Given the description of an element on the screen output the (x, y) to click on. 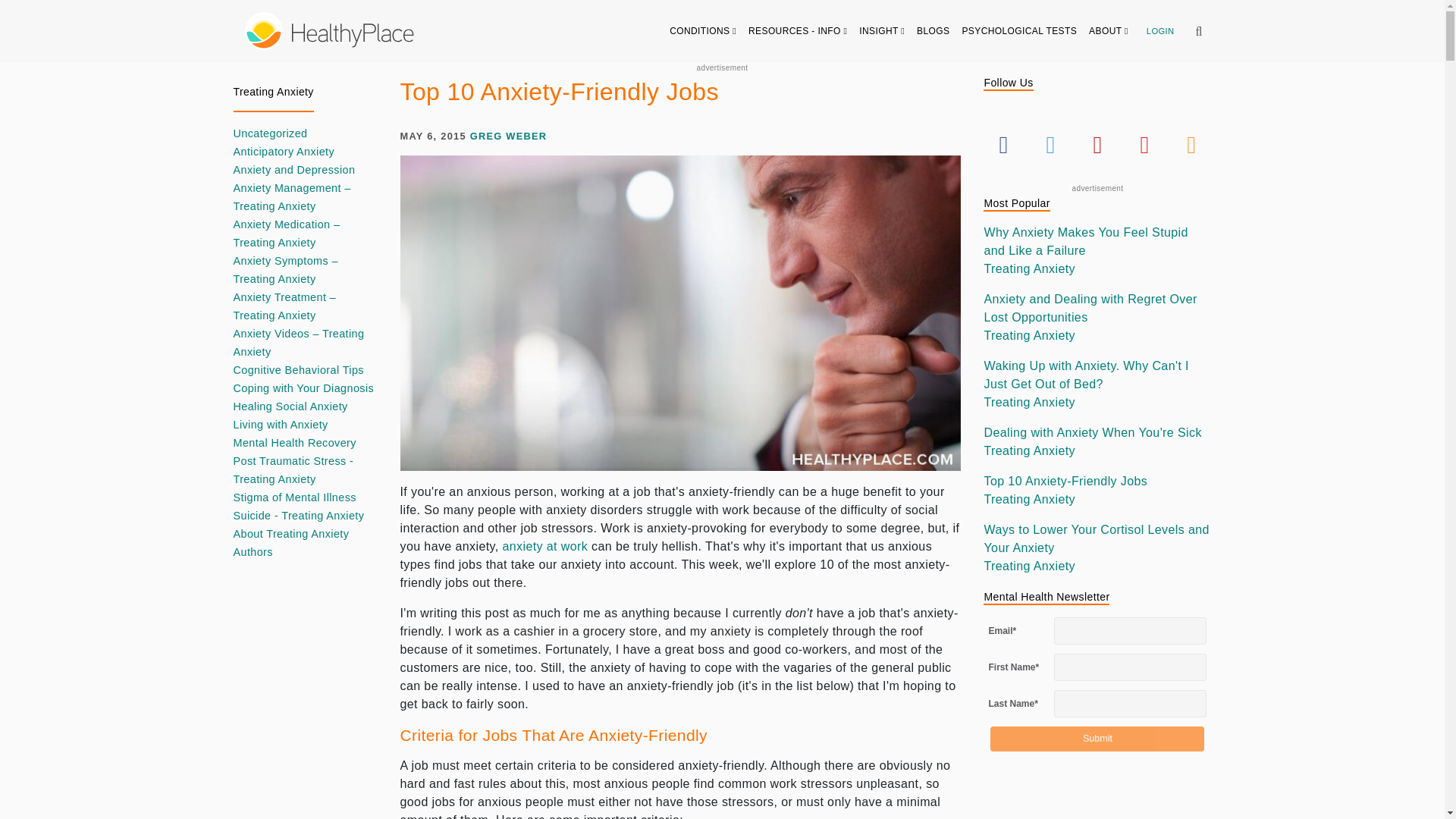
RESOURCES - INFO (797, 31)
Anxiety at Work - Stress in the Workplace (545, 545)
CONDITIONS (702, 31)
INSIGHT (882, 31)
Submit (1097, 738)
